Given the description of an element on the screen output the (x, y) to click on. 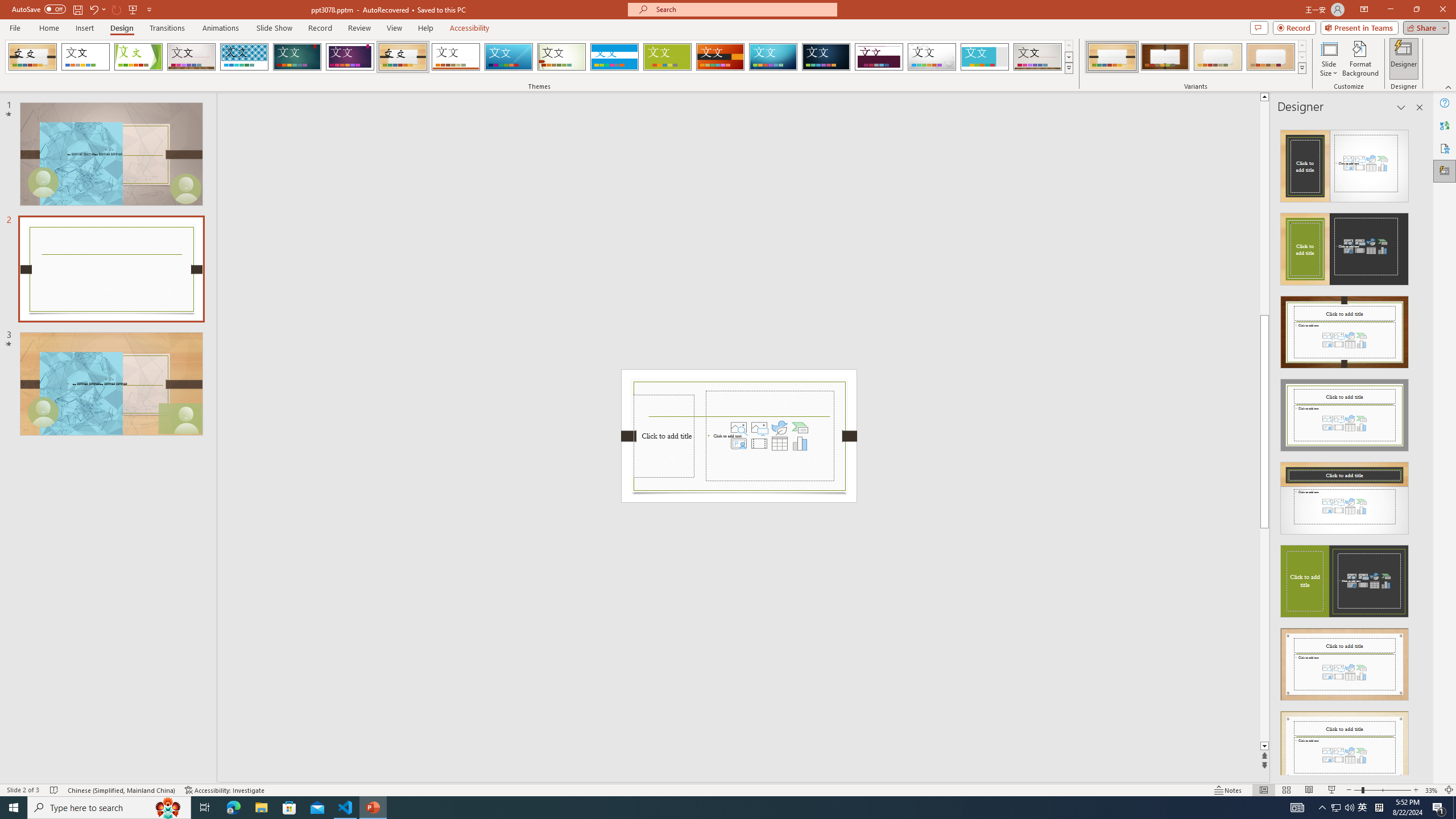
Office Theme (85, 56)
Class: NetUIScrollBar (1418, 447)
Banded (614, 56)
Droplet (931, 56)
Title TextBox (663, 435)
Zoom 33% (1431, 790)
Insert an Icon (779, 427)
Circuit (772, 56)
